Given the description of an element on the screen output the (x, y) to click on. 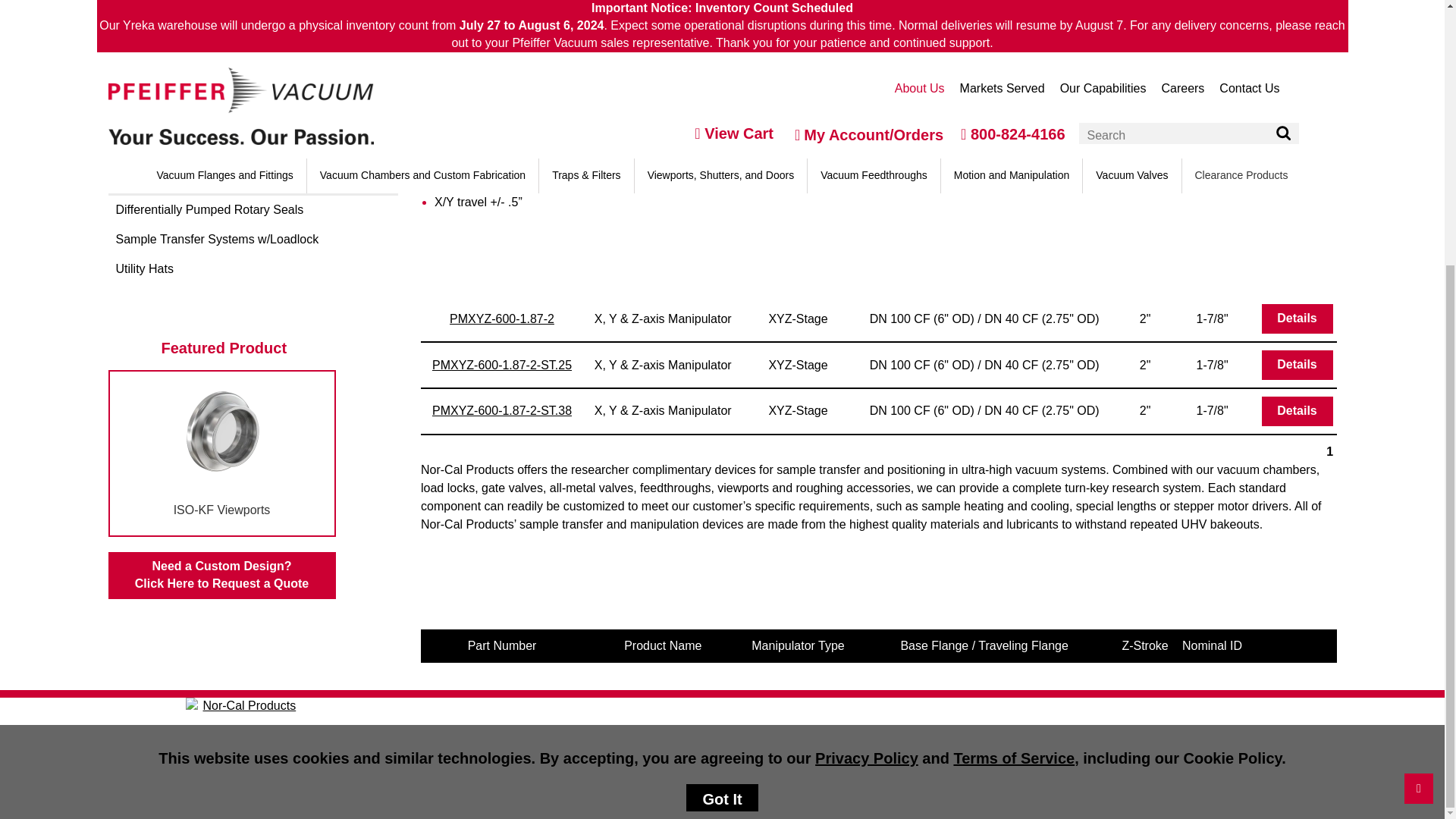
Back to top (1418, 404)
